Given the description of an element on the screen output the (x, y) to click on. 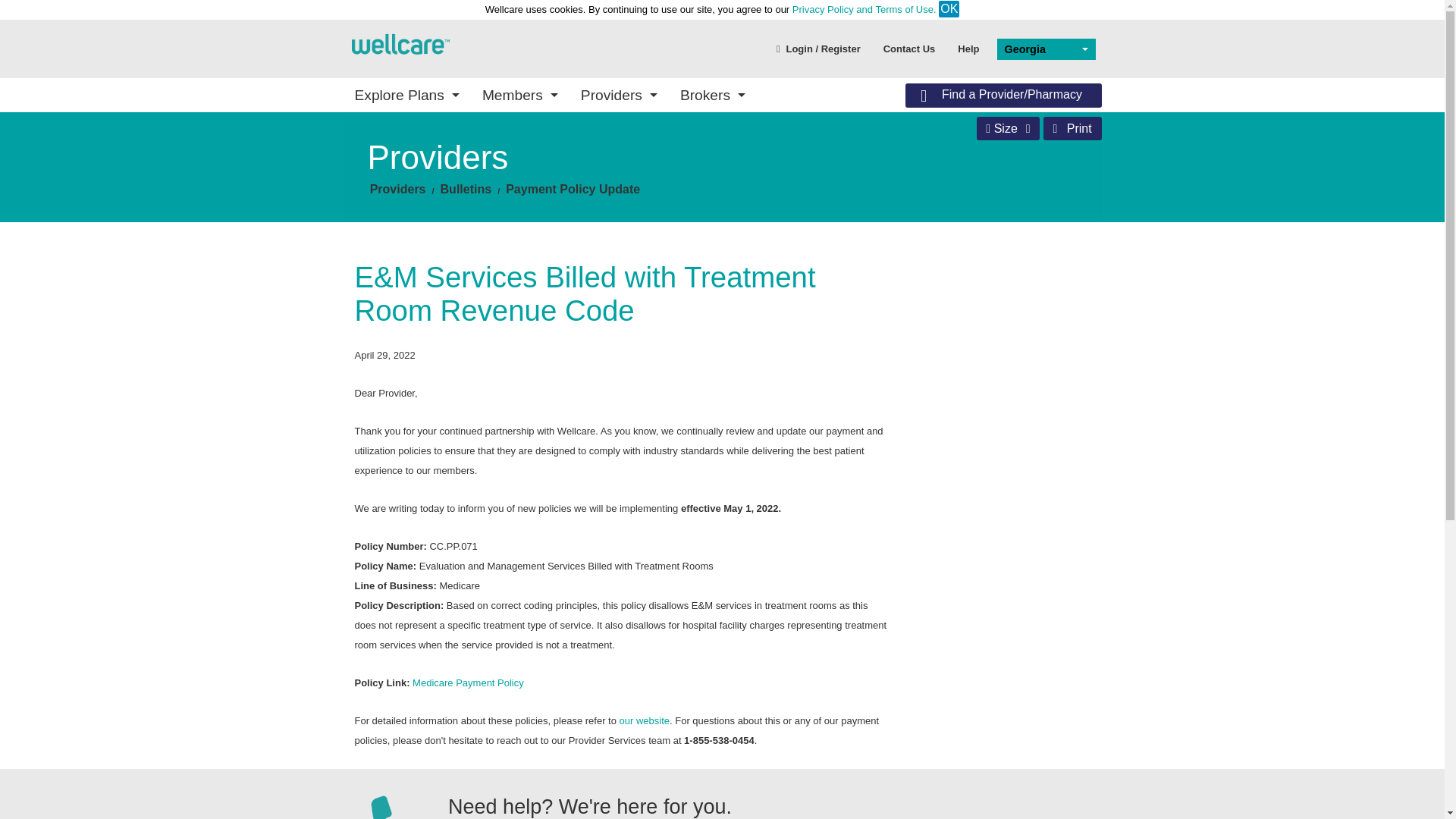
register (818, 47)
Already a Member? (810, 216)
Turning 65 (988, 194)
Medicare Overview (633, 263)
contact us (909, 47)
Contact Us (909, 47)
PDP Overview (633, 189)
Video Library (456, 255)
bread (397, 188)
Plans Overview (456, 173)
